Given the description of an element on the screen output the (x, y) to click on. 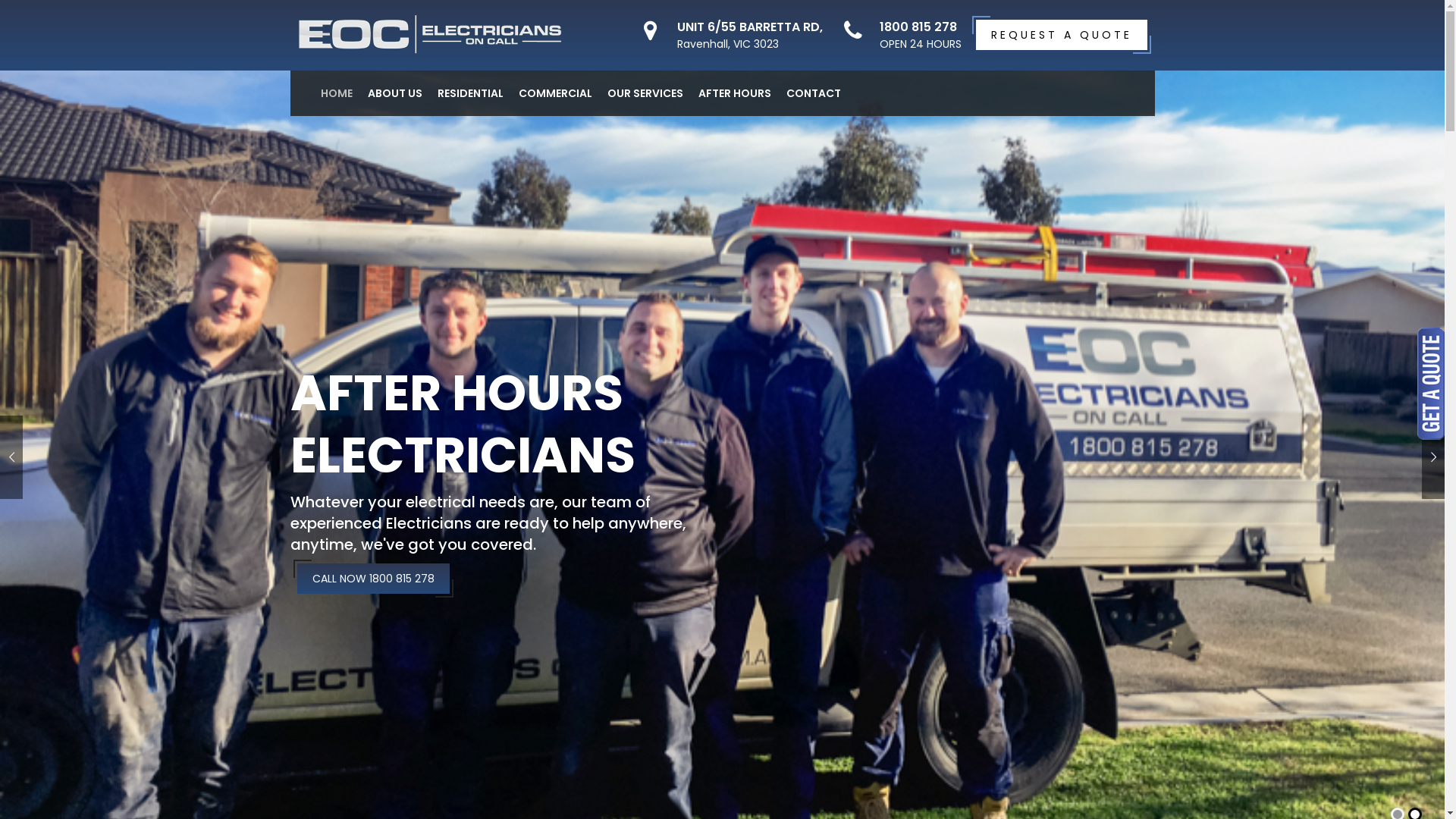
1800 815 278 Element type: text (918, 26)
RESIDENTIAL Element type: text (469, 93)
AFTER HOURS Element type: text (734, 93)
HOME Element type: text (335, 93)
OUR SERVICES Element type: text (644, 93)
CONTACT Element type: text (812, 93)
CALL NOW 1800 815 278 Element type: text (373, 578)
REQUEST A QUOTE Element type: text (1060, 34)
COMMERCIAL Element type: text (555, 93)
ABOUT US Element type: text (394, 93)
